Given the description of an element on the screen output the (x, y) to click on. 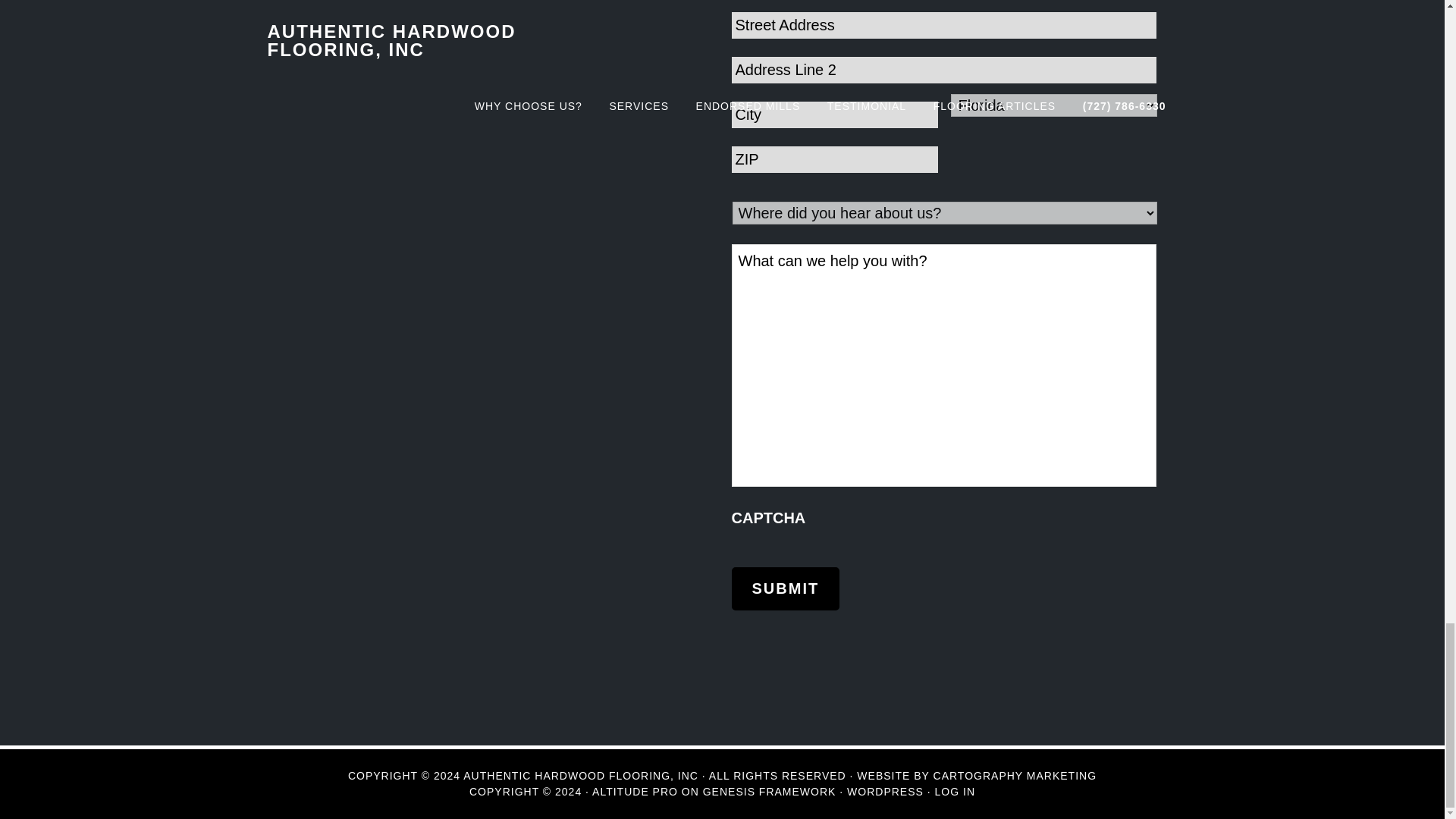
Submit (785, 588)
Cartography Marketing (1014, 775)
WORDPRESS (885, 791)
GENESIS FRAMEWORK (769, 791)
ALTITUDE PRO (635, 791)
AUTHENTIC HARDWOOD FLOORING, INC (580, 775)
CARTOGRAPHY MARKETING (1014, 775)
Authentic Hardwood Flooring, Inc (580, 775)
Submit (785, 588)
LOG IN (954, 791)
